Given the description of an element on the screen output the (x, y) to click on. 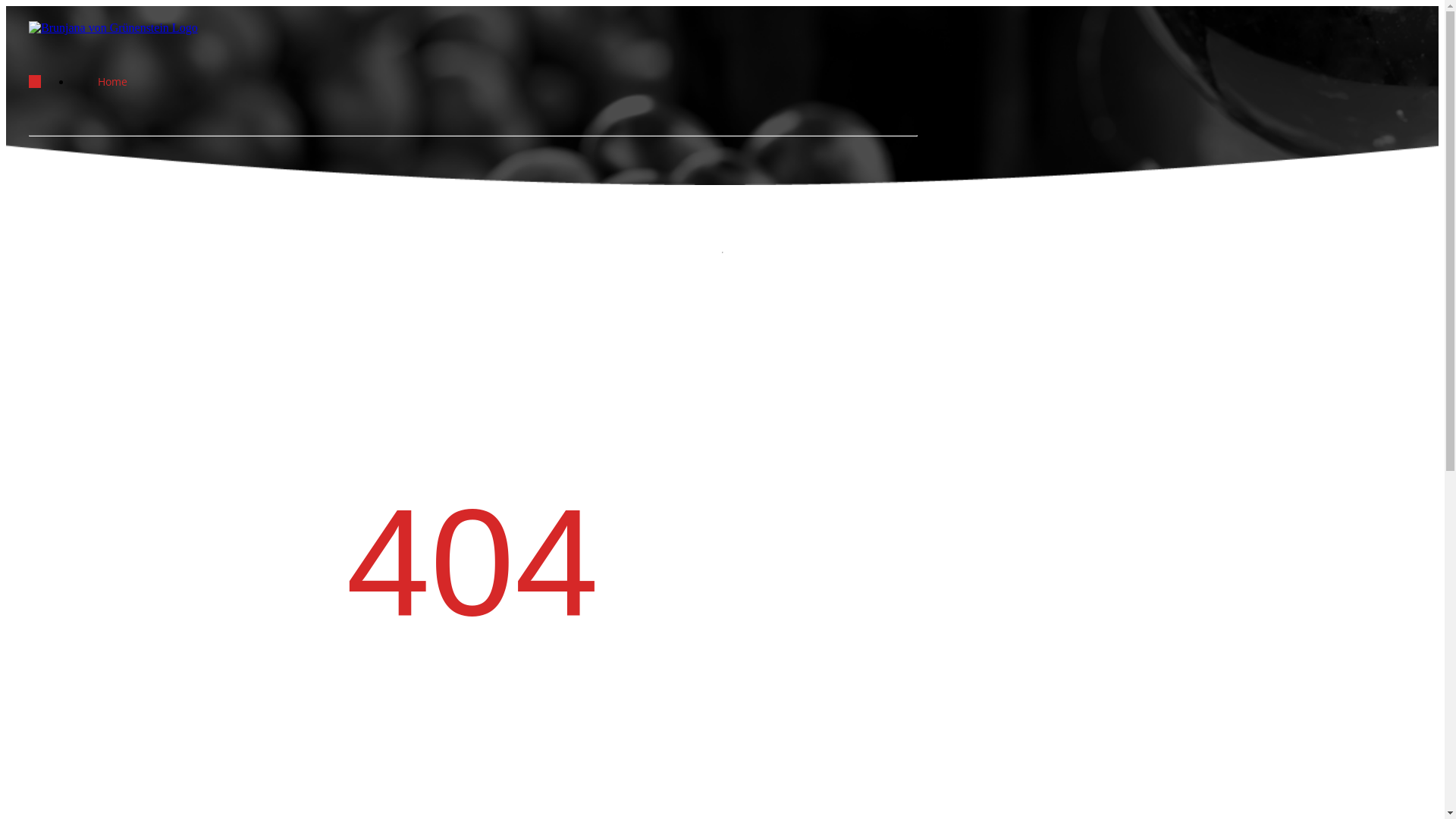
Home Element type: text (113, 81)
